Given the description of an element on the screen output the (x, y) to click on. 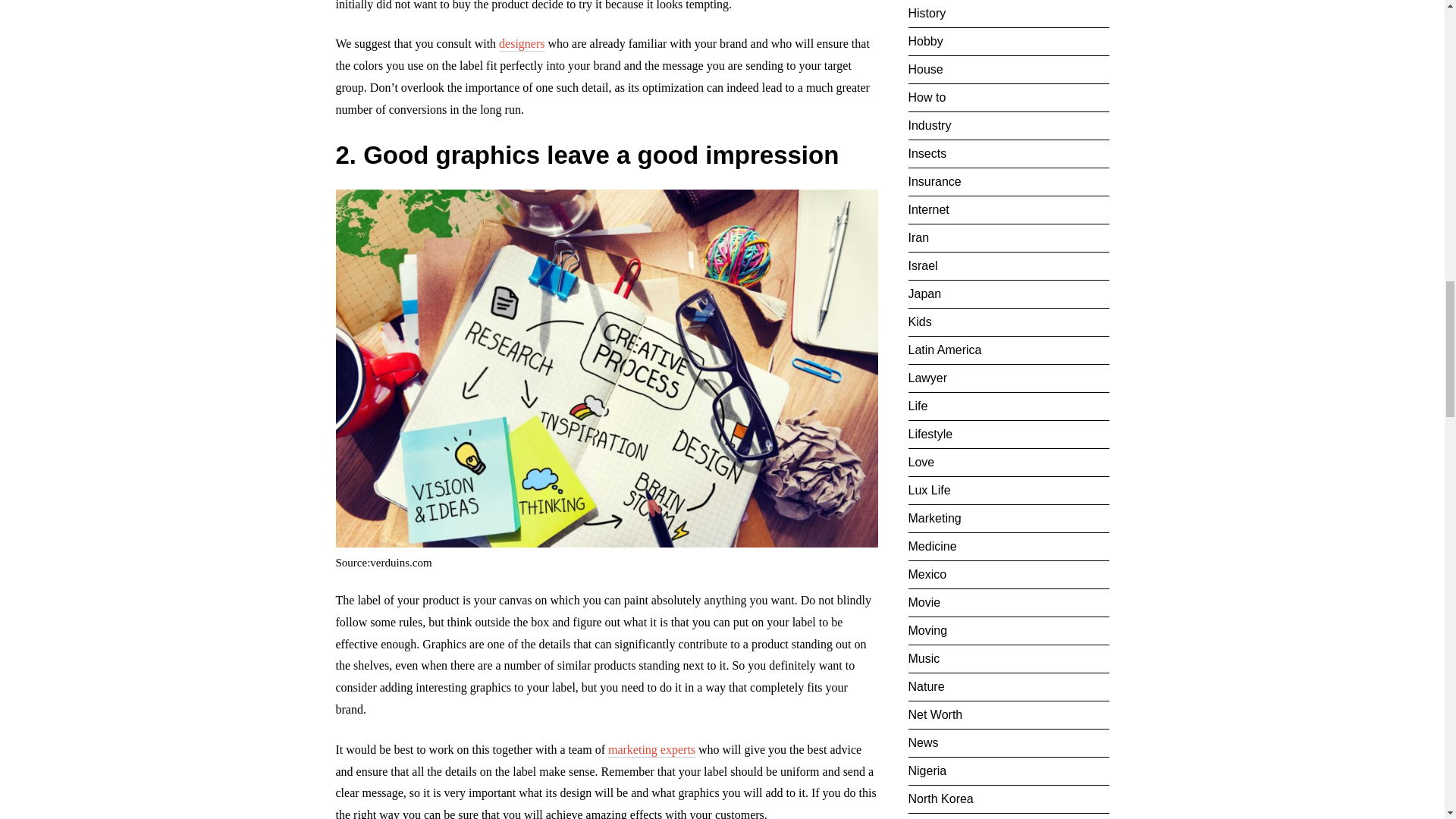
designers (521, 42)
marketing experts (651, 748)
